Given the description of an element on the screen output the (x, y) to click on. 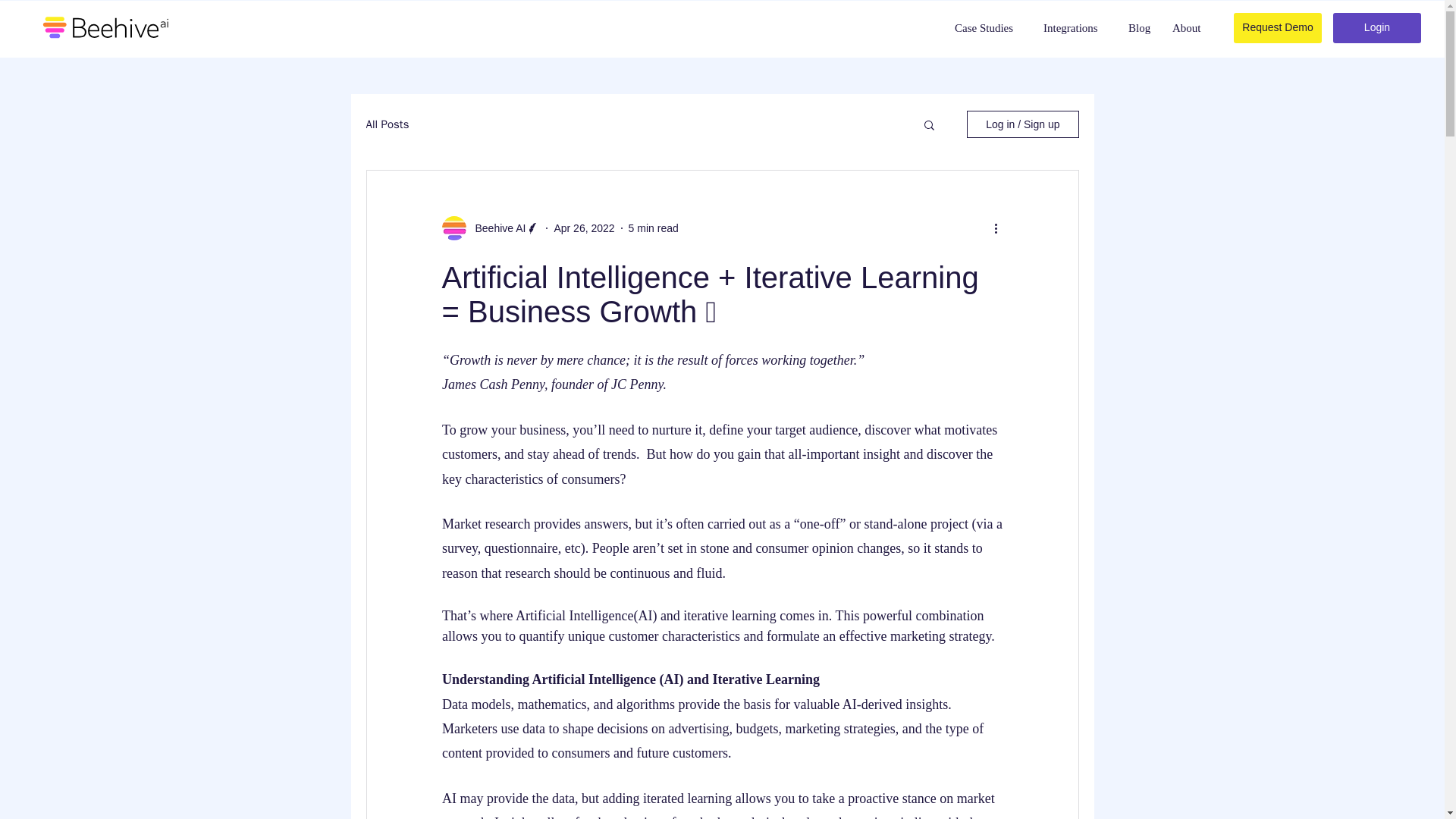
Case Studies (988, 28)
Login (1377, 28)
Request Demo (1277, 28)
About (1187, 28)
Apr 26, 2022 (583, 227)
Beehive AI (495, 227)
Integrations (1075, 28)
All Posts (387, 124)
5 min read (653, 227)
Blog (1139, 28)
